Given the description of an element on the screen output the (x, y) to click on. 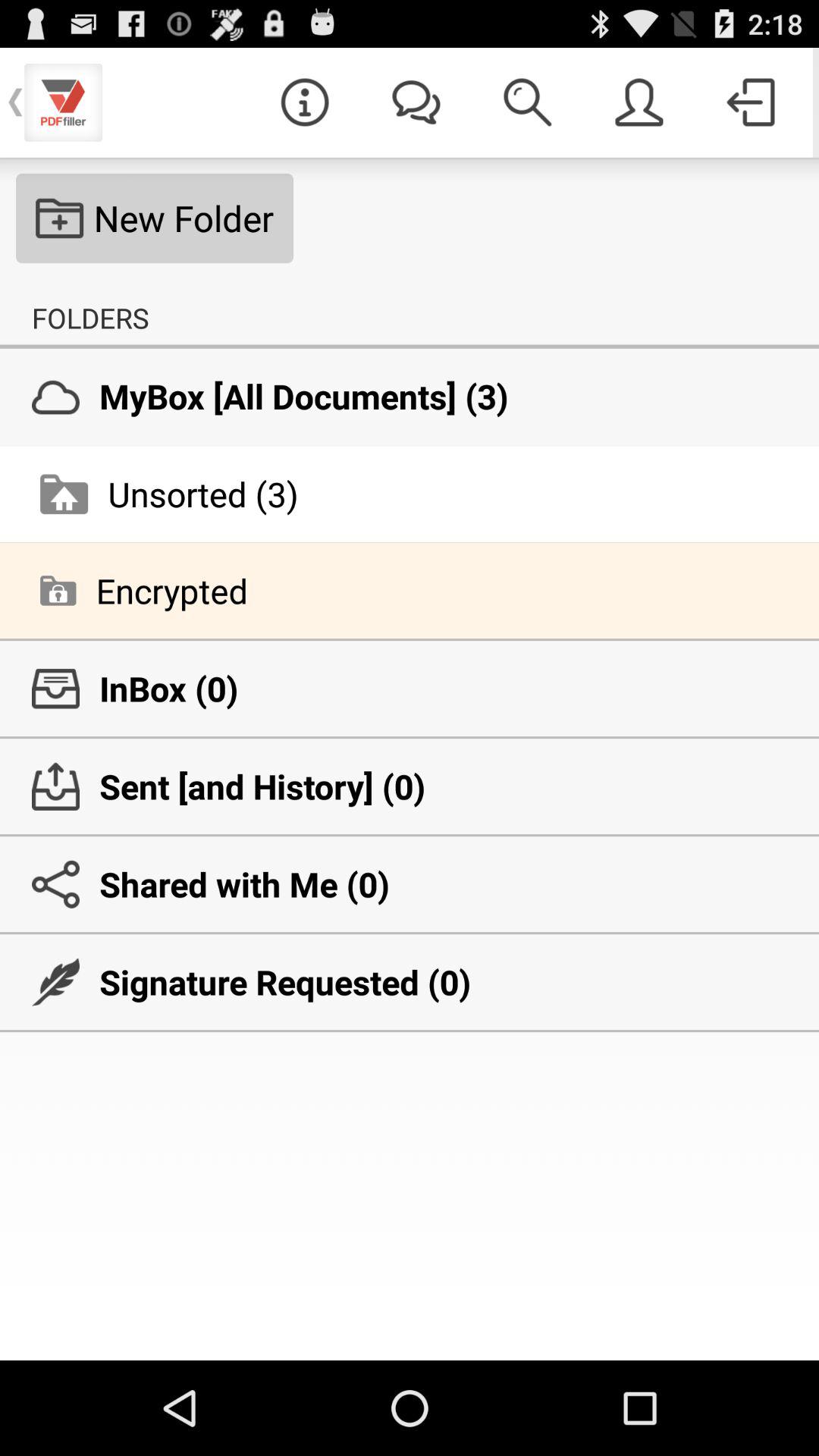
press the button above the new folder icon (304, 102)
